Given the description of an element on the screen output the (x, y) to click on. 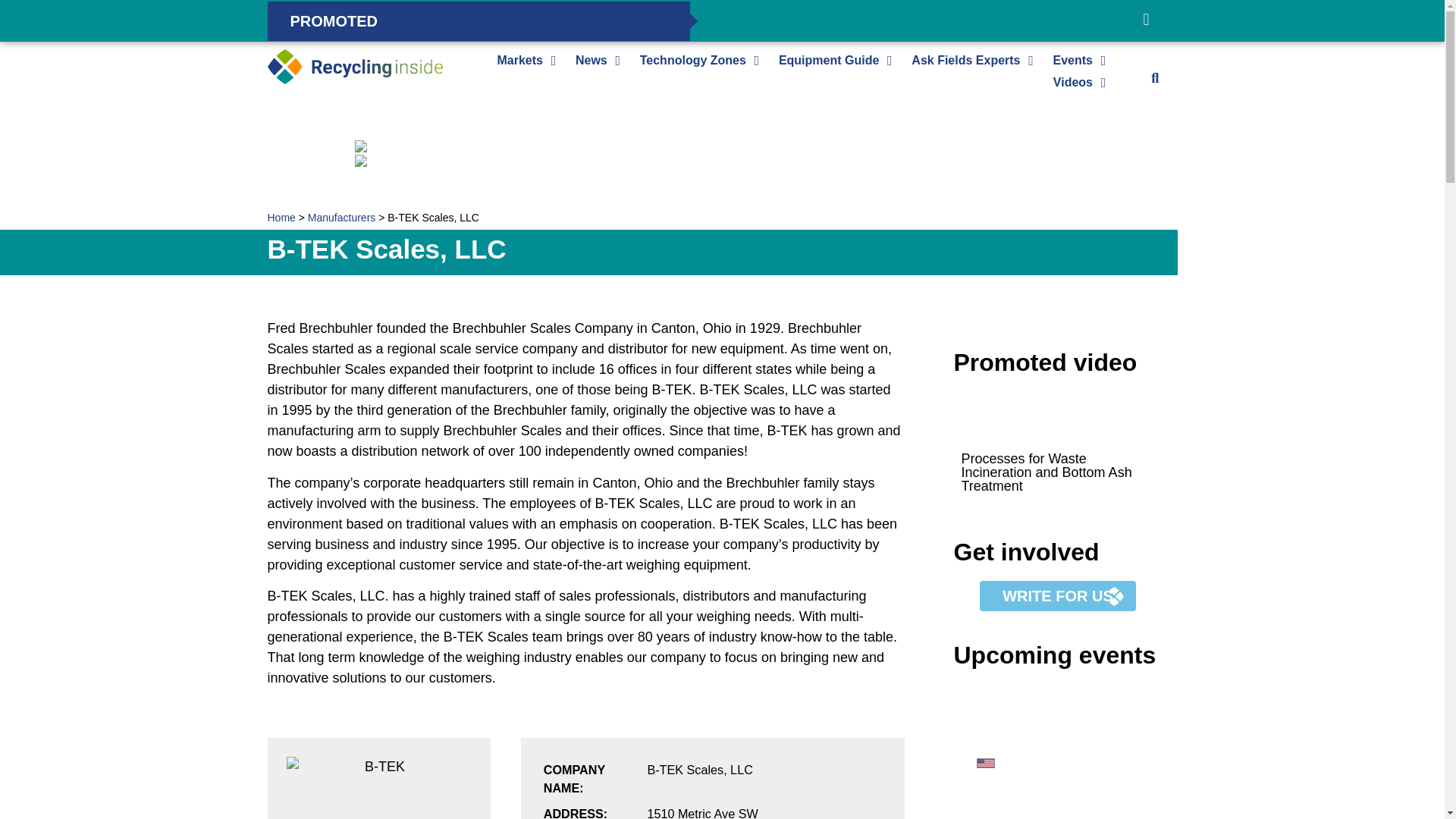
Markets (518, 60)
News (591, 60)
United States (985, 763)
